Given the description of an element on the screen output the (x, y) to click on. 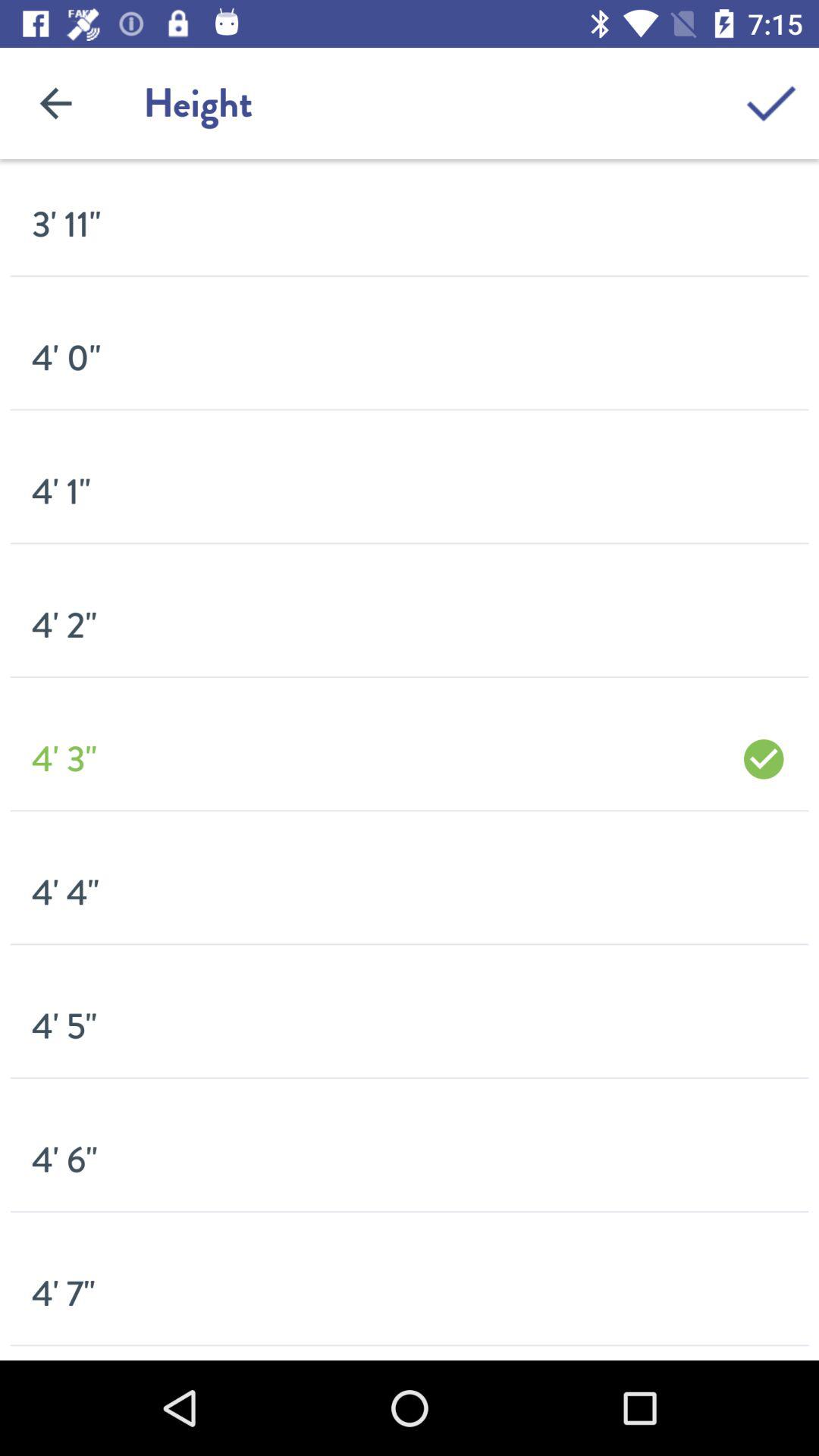
choose icon above 3' 11" (55, 103)
